Given the description of an element on the screen output the (x, y) to click on. 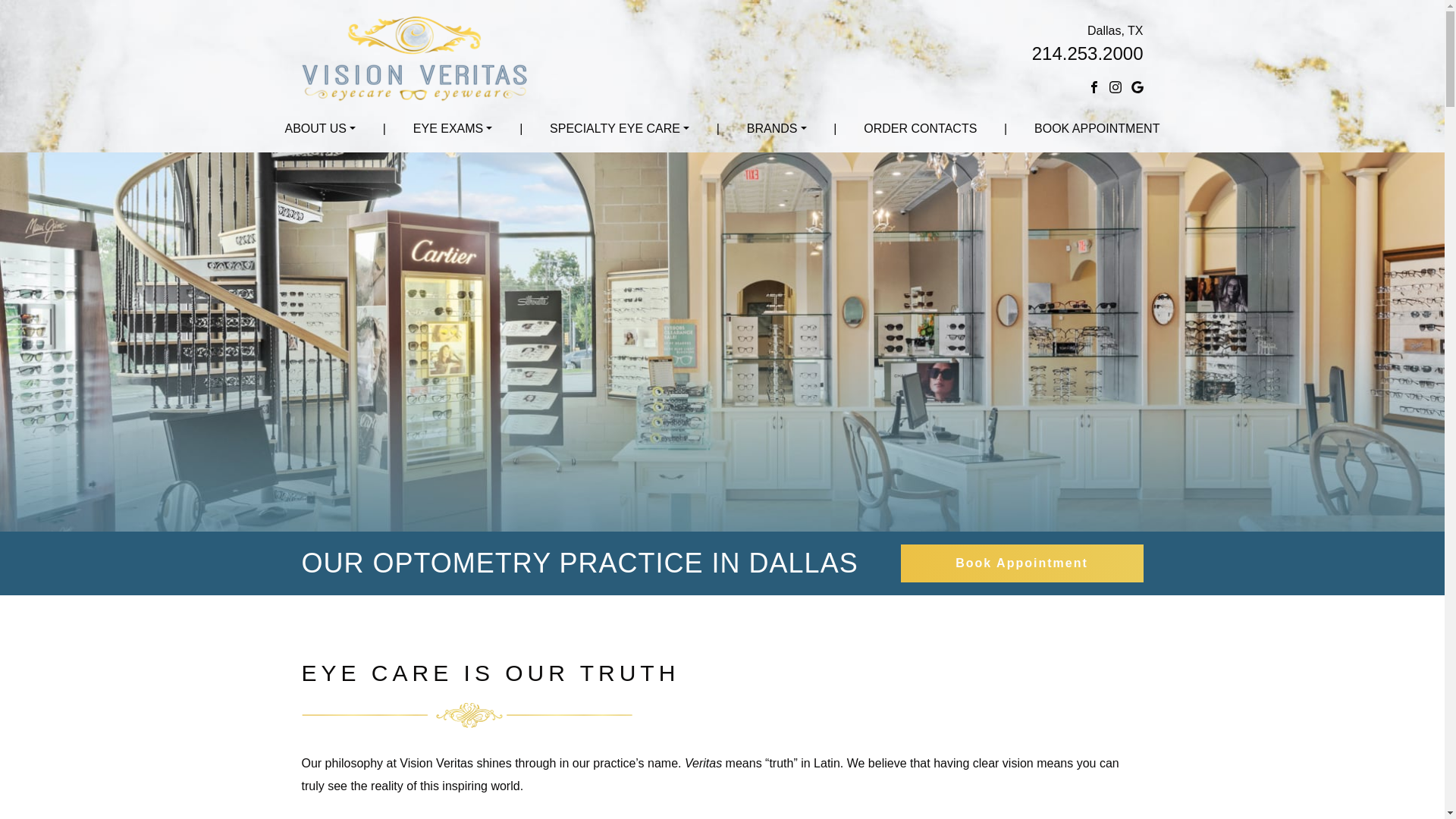
EYE EXAMS (453, 128)
Facebook (1093, 85)
214.253.2000 (1087, 53)
Book Appointment (1021, 563)
SPECIALTY EYE CARE (619, 128)
Instagram (1115, 85)
BRANDS (776, 128)
About Us (320, 128)
Google  (1136, 85)
Specialty Eye Care (619, 128)
BOOK APPOINTMENT (1096, 128)
ORDER CONTACTS (919, 128)
Eye Exams (453, 128)
ABOUT US (320, 128)
